Given the description of an element on the screen output the (x, y) to click on. 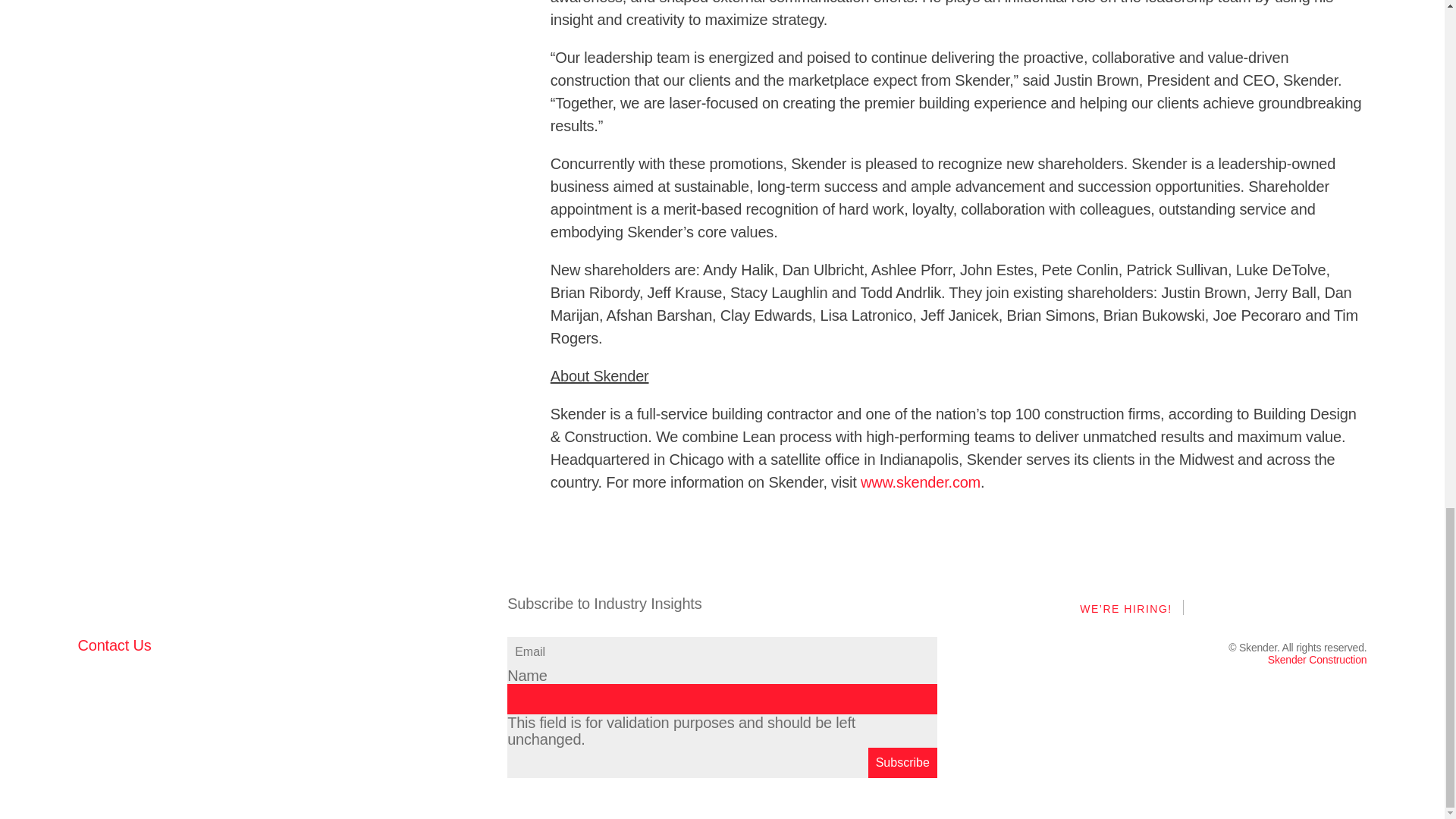
Skender Construction (1317, 659)
Subscribe (902, 762)
Subscribe (902, 762)
Contact Us (114, 645)
www.skender.com (919, 482)
